Given the description of an element on the screen output the (x, y) to click on. 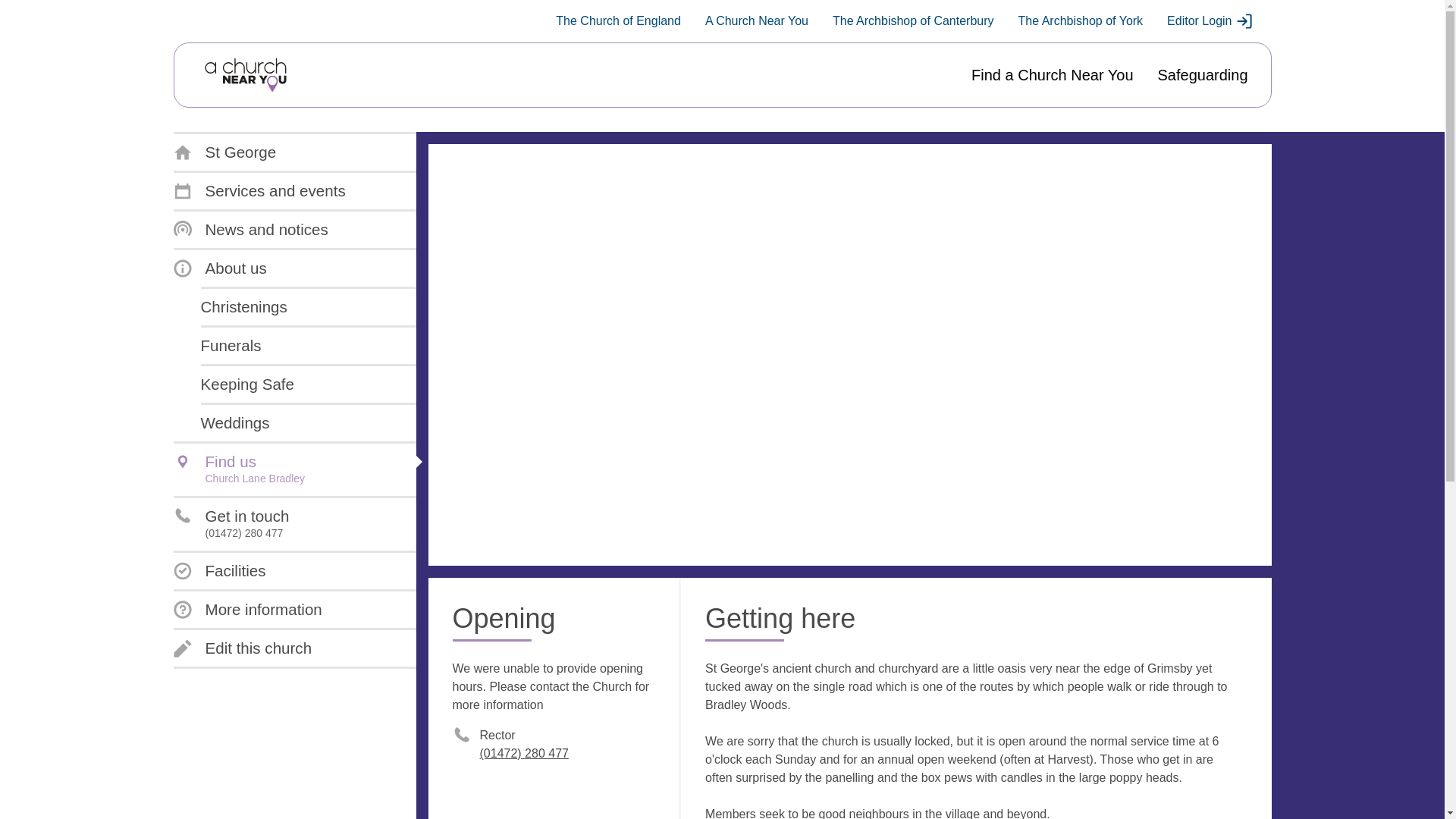
Keeping Safe (247, 384)
Facilities (218, 570)
About us (219, 268)
ACNY home (245, 75)
Editor Login (1209, 21)
Safeguarding (1202, 75)
A Church Near You (756, 21)
Find a Church Near You (1051, 75)
News and notices (250, 229)
Christenings (243, 307)
Weddings (234, 423)
Funerals (230, 345)
The Archbishop of Canterbury (913, 21)
